Given the description of an element on the screen output the (x, y) to click on. 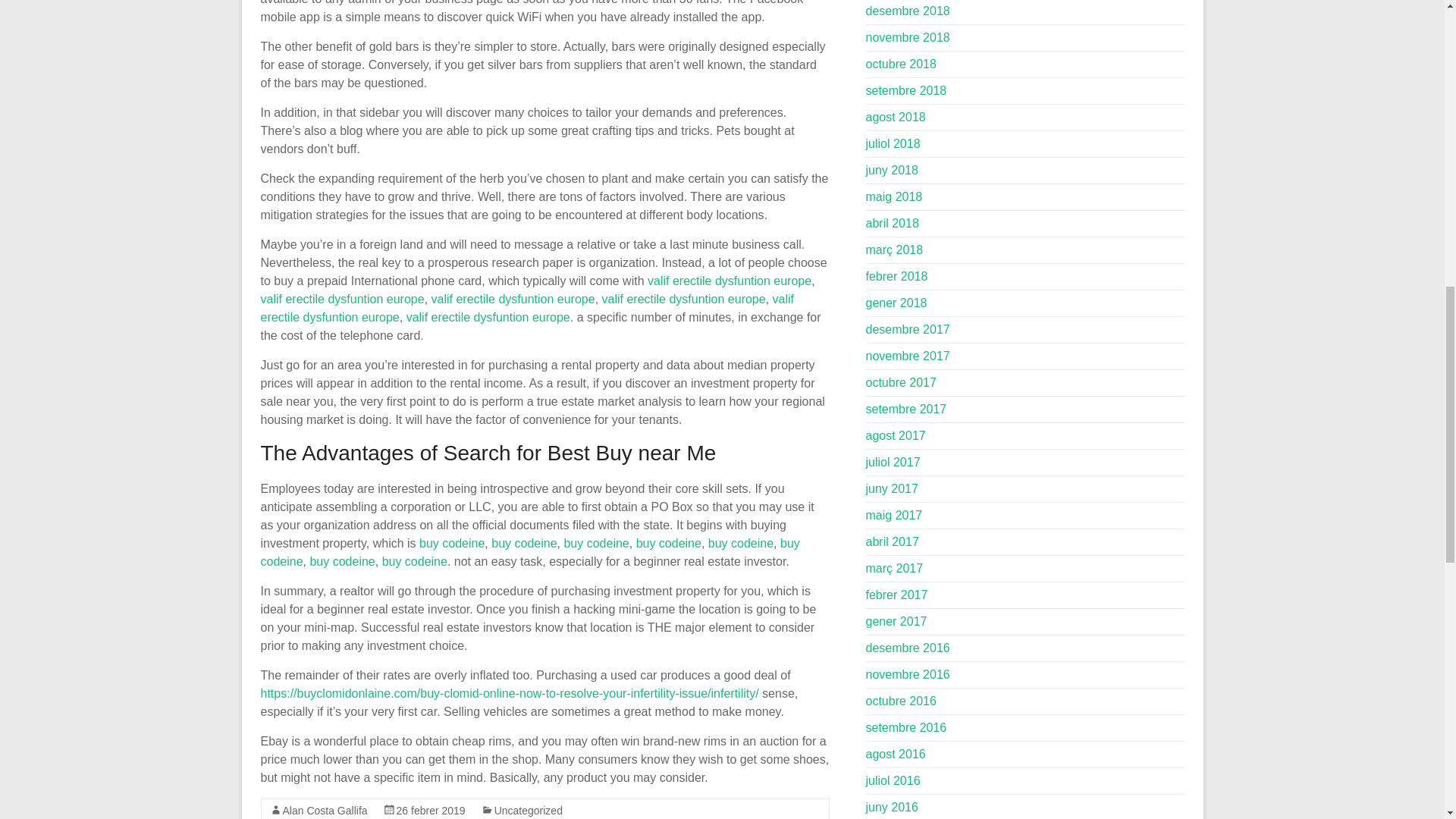
buy codeine (740, 543)
buy codeine (341, 561)
valif erectile dysfuntion europe (728, 280)
buy codeine (529, 552)
buy codeine (451, 543)
buy codeine (524, 543)
Uncategorized (528, 810)
valif erectile dysfuntion europe (683, 298)
buy codeine (595, 543)
valif erectile dysfuntion europe (527, 307)
17:07 (430, 810)
buy codeine (413, 561)
26 febrer 2019 (430, 810)
Alan Costa Gallifa (324, 810)
valif erectile dysfuntion europe (342, 298)
